Given the description of an element on the screen output the (x, y) to click on. 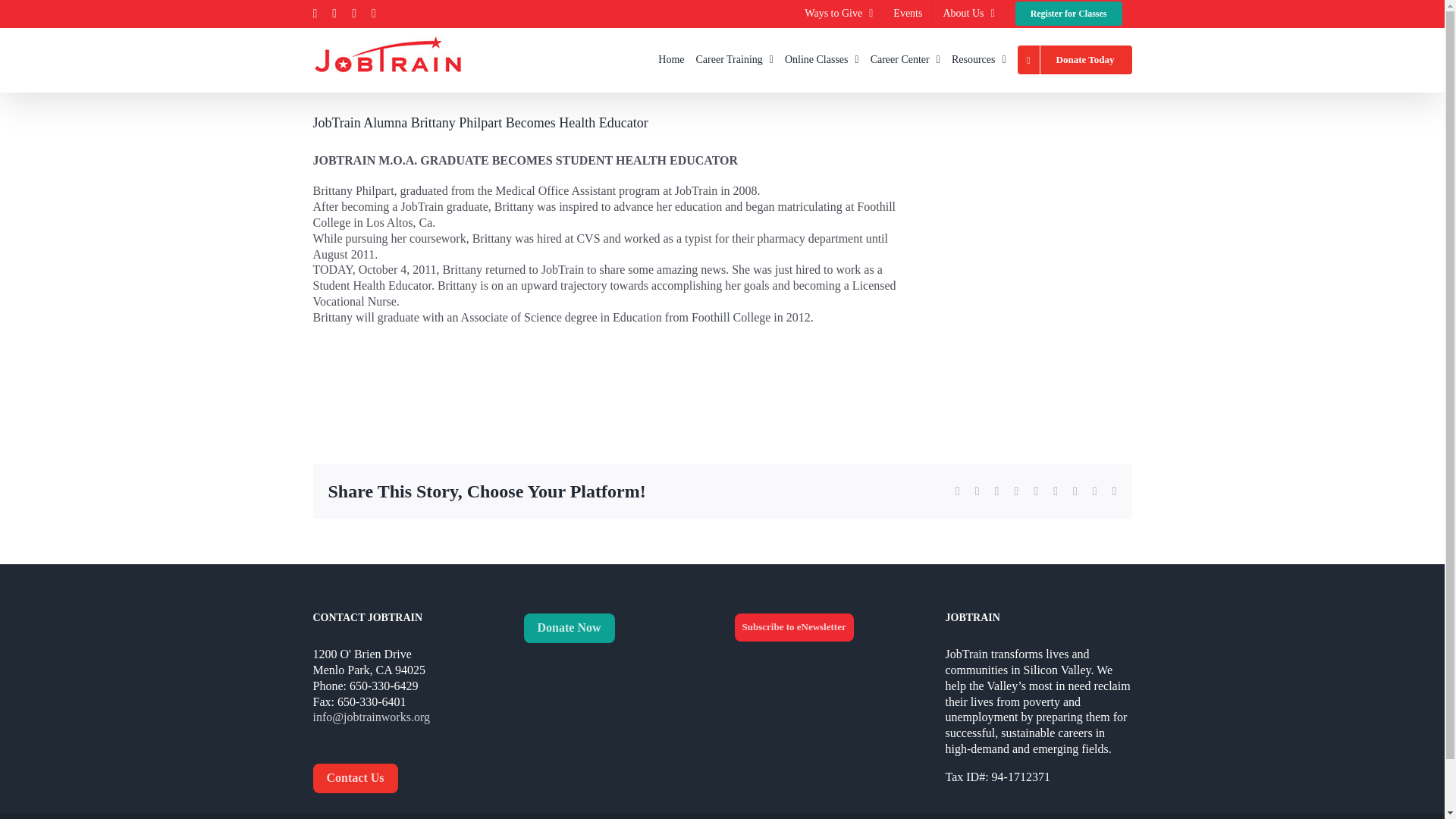
Career Training (734, 59)
Register for Classes (1069, 13)
Events (907, 13)
Career Center (905, 59)
Online Classes (821, 59)
About Us (968, 13)
Ways to Give (838, 13)
